Given the description of an element on the screen output the (x, y) to click on. 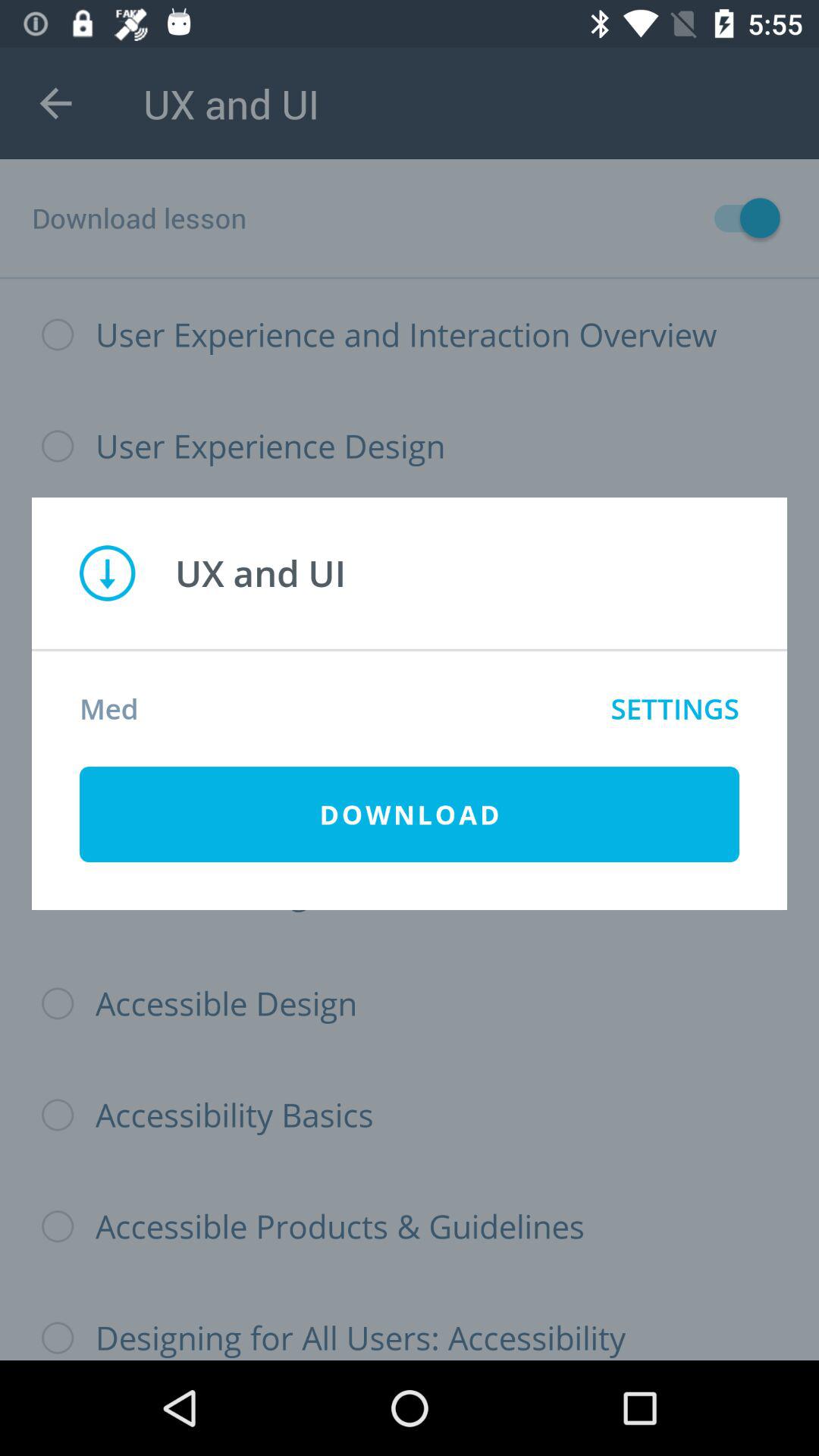
tap the icon below med item (409, 814)
